Given the description of an element on the screen output the (x, y) to click on. 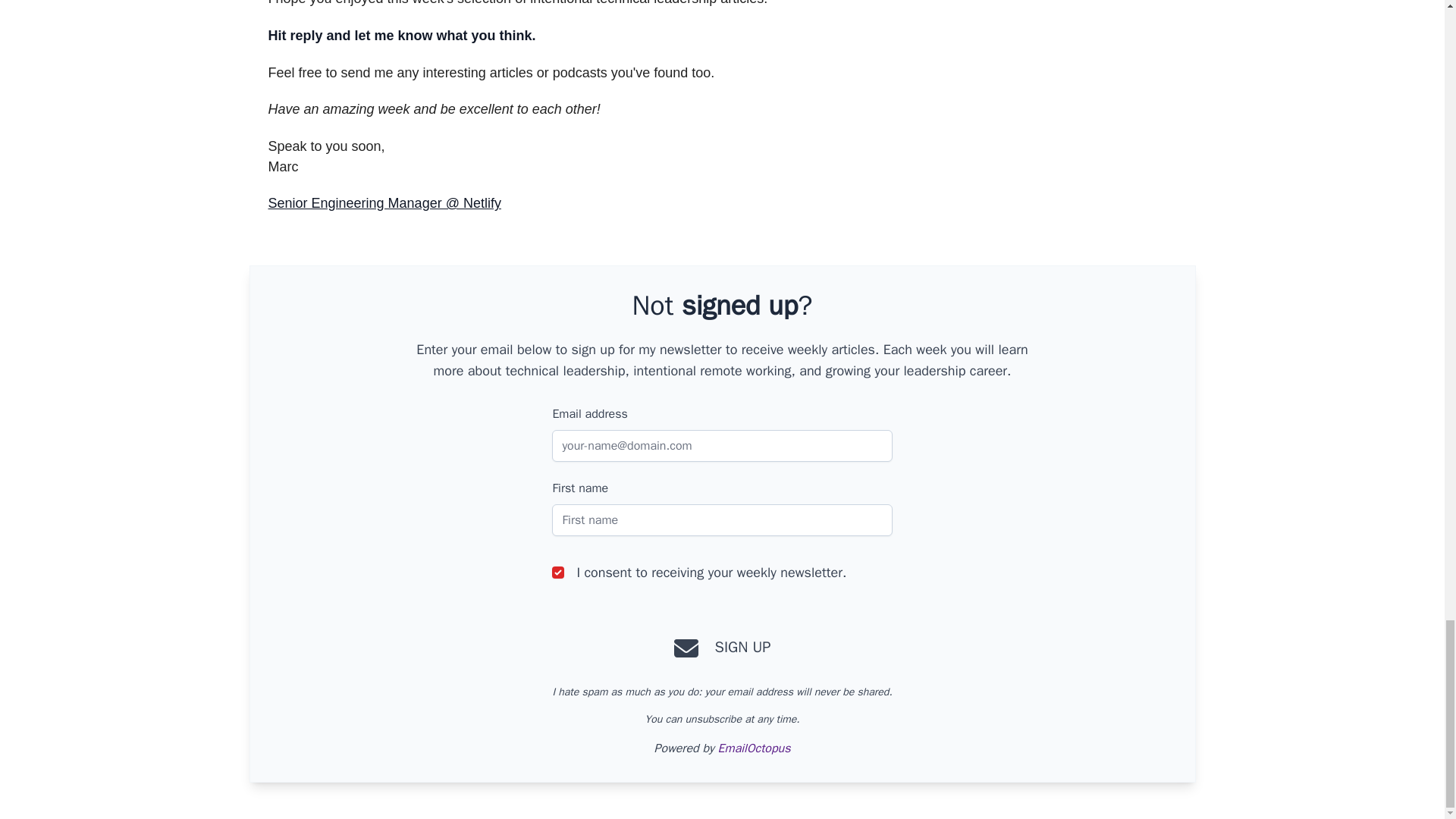
EmailOctopus (753, 748)
SIGN UP (721, 648)
on (557, 572)
